Given the description of an element on the screen output the (x, y) to click on. 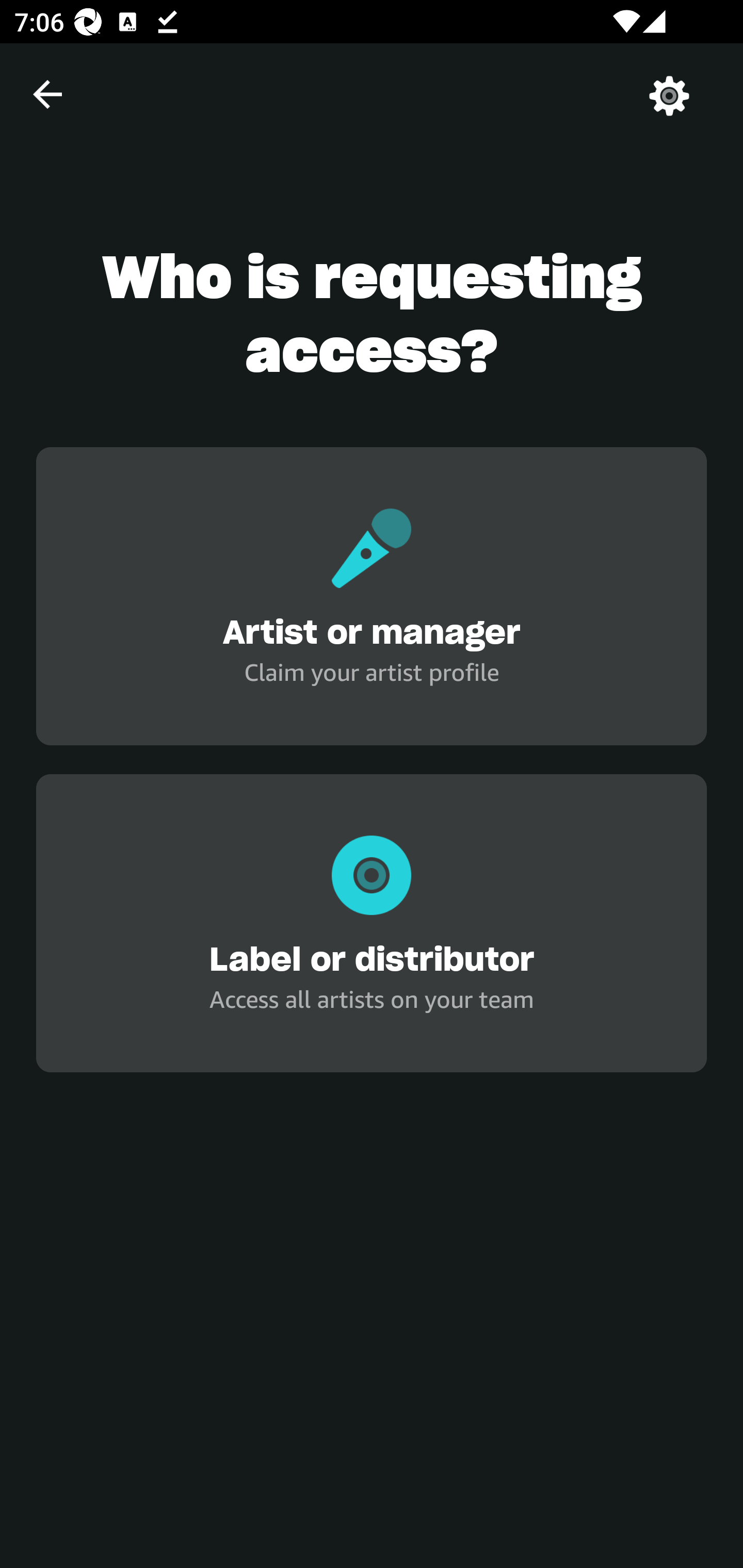
ArtistSelect, back (47, 93)
